Given the description of an element on the screen output the (x, y) to click on. 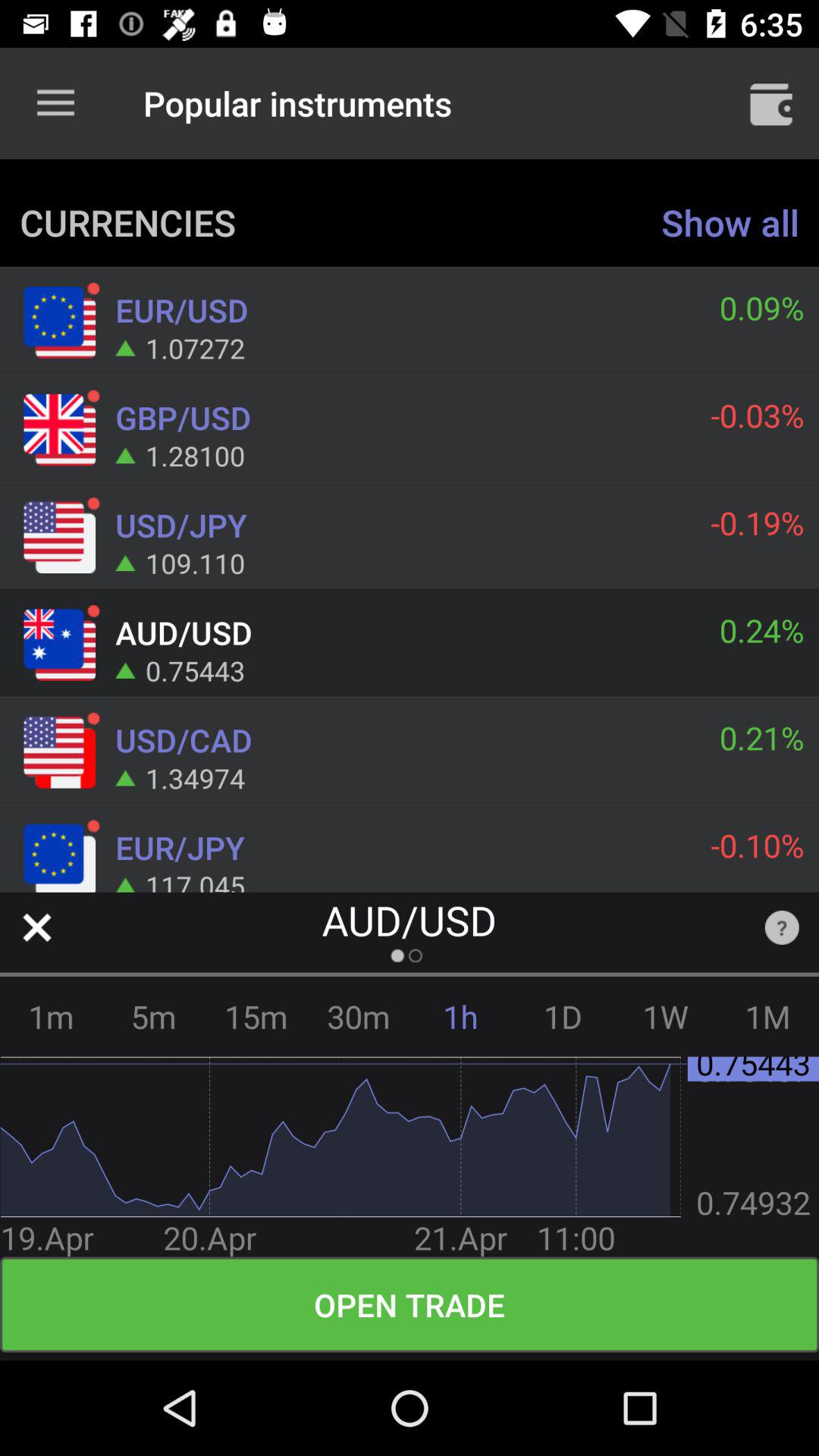
press the 30m item (358, 1016)
